Given the description of an element on the screen output the (x, y) to click on. 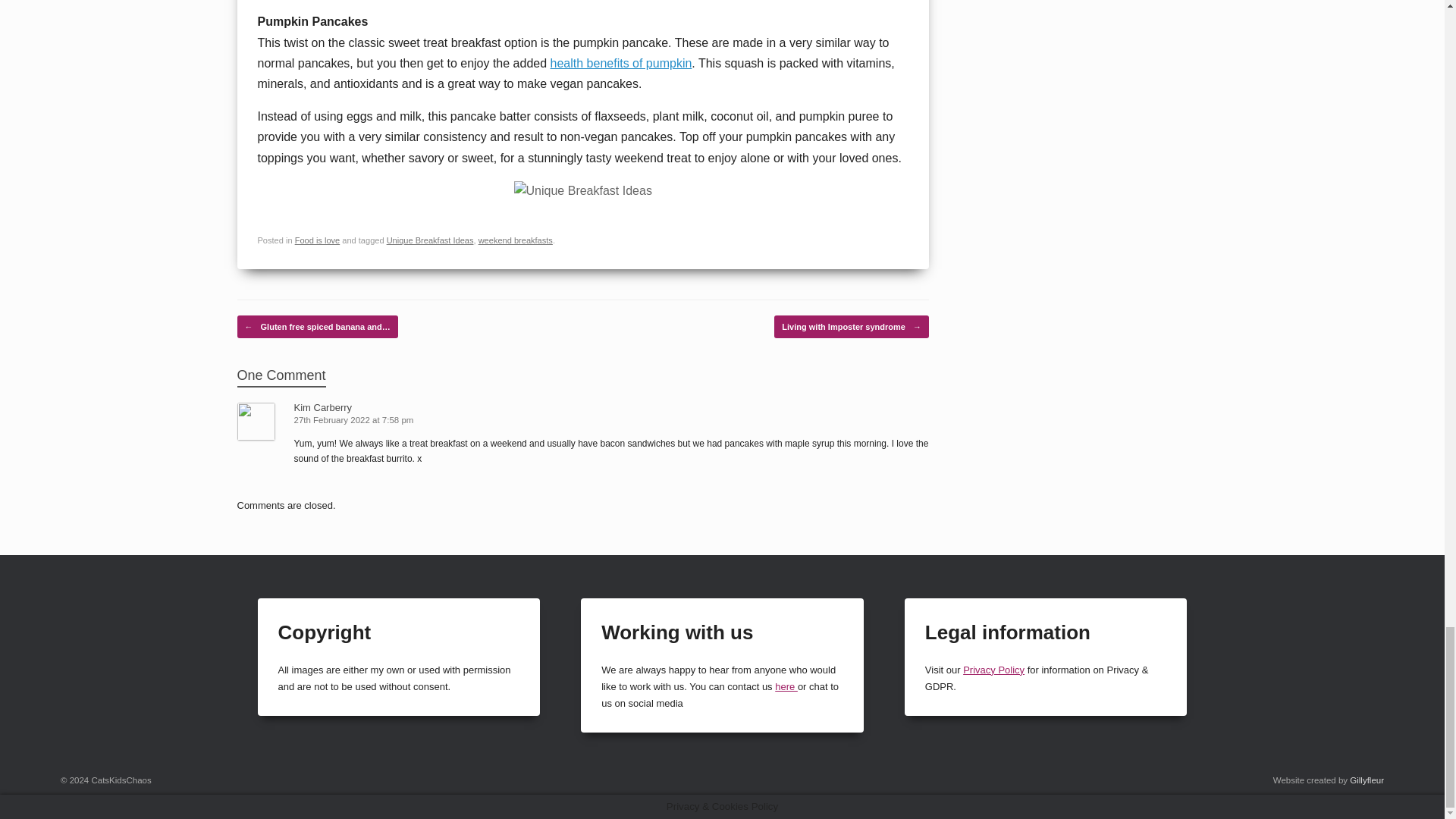
health benefits of pumpkin (621, 62)
Privacy Policy (993, 669)
weekend breakfasts (516, 239)
Unique Breakfast Ideas (430, 239)
Gillyfleur (1366, 779)
Kim Carberry (323, 407)
27th February 2022 at 7:58 pm (355, 420)
Food is love (317, 239)
here (785, 686)
